Given the description of an element on the screen output the (x, y) to click on. 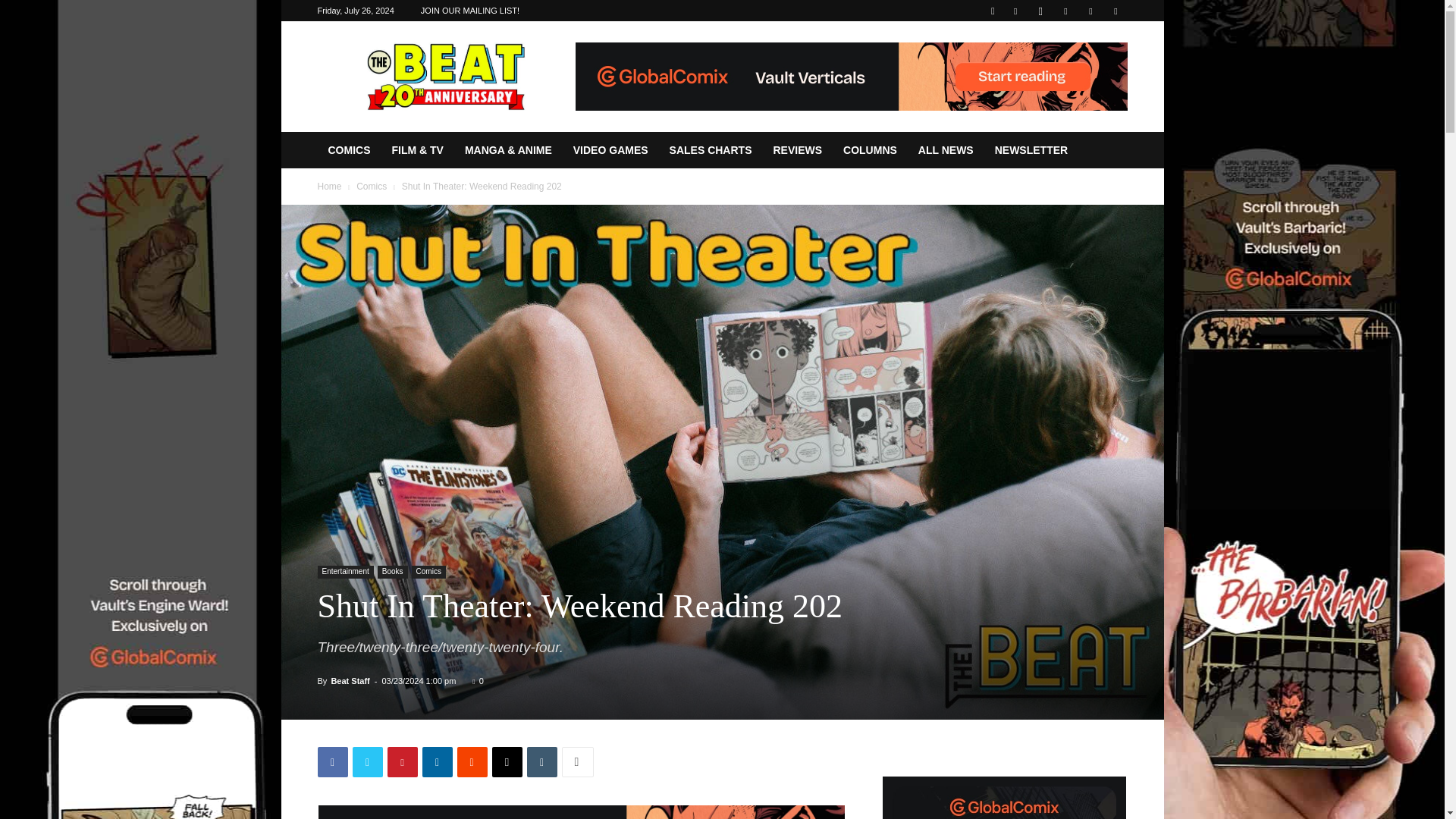
Twitter (366, 761)
Search (1085, 64)
Instagram (1040, 10)
VIDEO GAMES (610, 149)
Facebook (332, 761)
JOIN OUR MAILING LIST! (469, 10)
COLUMNS (869, 149)
RSS (1065, 10)
COMICS (348, 149)
View all posts in Comics (371, 185)
